Given the description of an element on the screen output the (x, y) to click on. 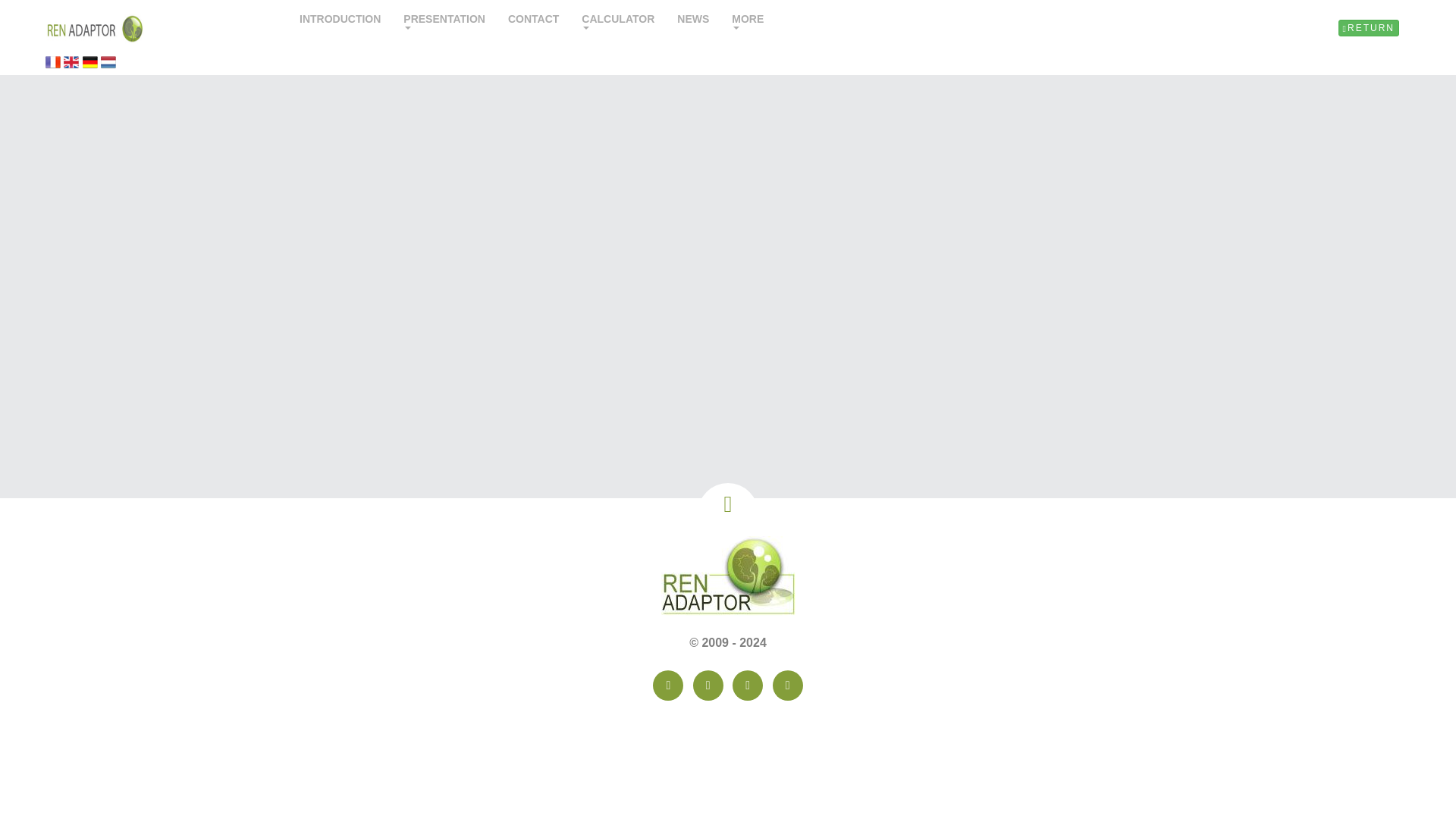
NEWS (692, 20)
CONTACT (533, 20)
CALCULATOR (617, 22)
PRESENTATION (443, 22)
RETURN (1368, 27)
MORE (747, 22)
INTRODUCTION (339, 20)
